Given the description of an element on the screen output the (x, y) to click on. 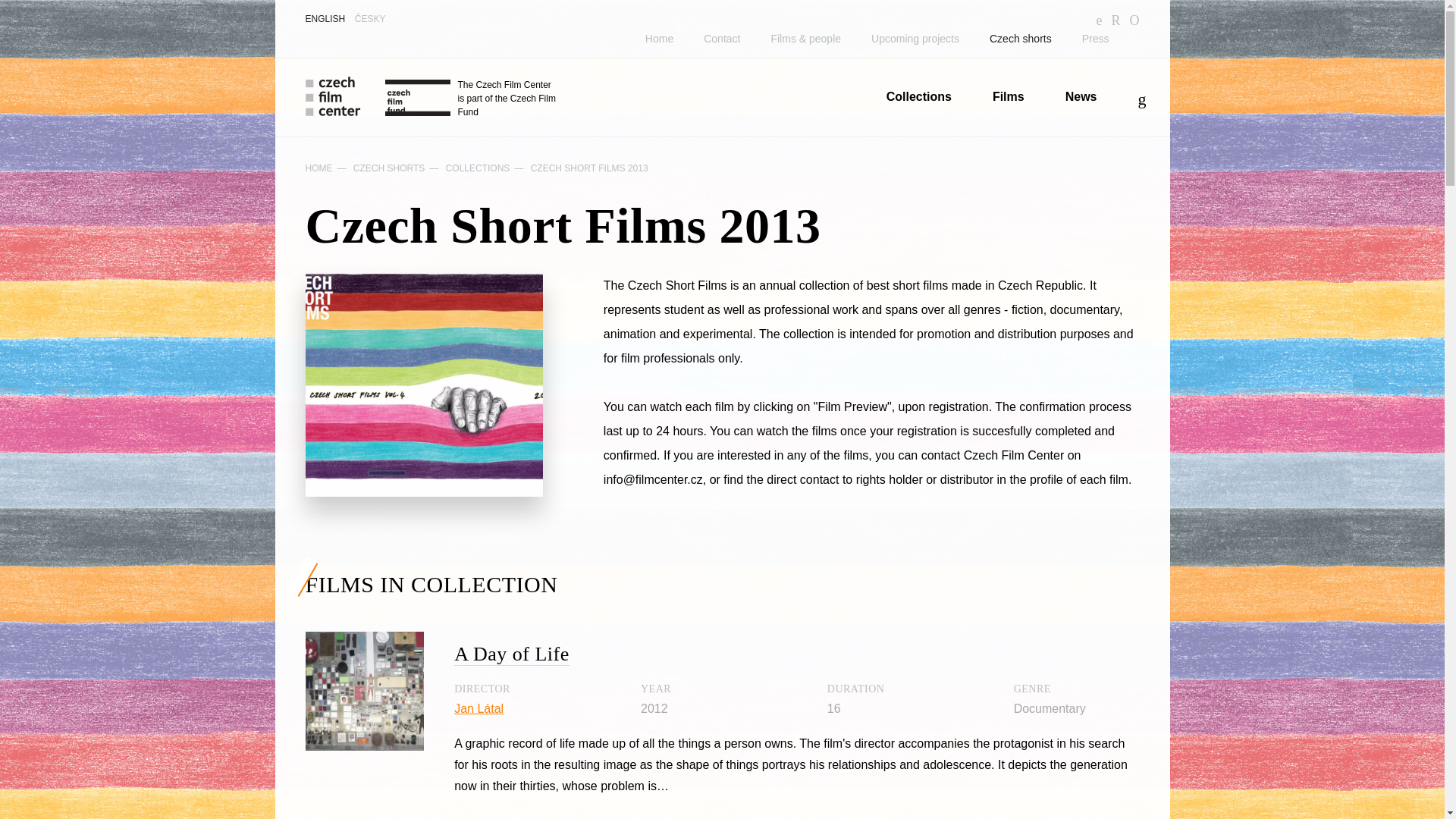
A Day of Life (511, 653)
CZECH SHORT FILMS 2013 (589, 167)
Czech shorts (1020, 38)
Collections (919, 96)
Home (658, 38)
Upcoming projects (914, 38)
News (1081, 96)
HOME (317, 167)
ENGLISH (324, 18)
Films (1008, 96)
